Given the description of an element on the screen output the (x, y) to click on. 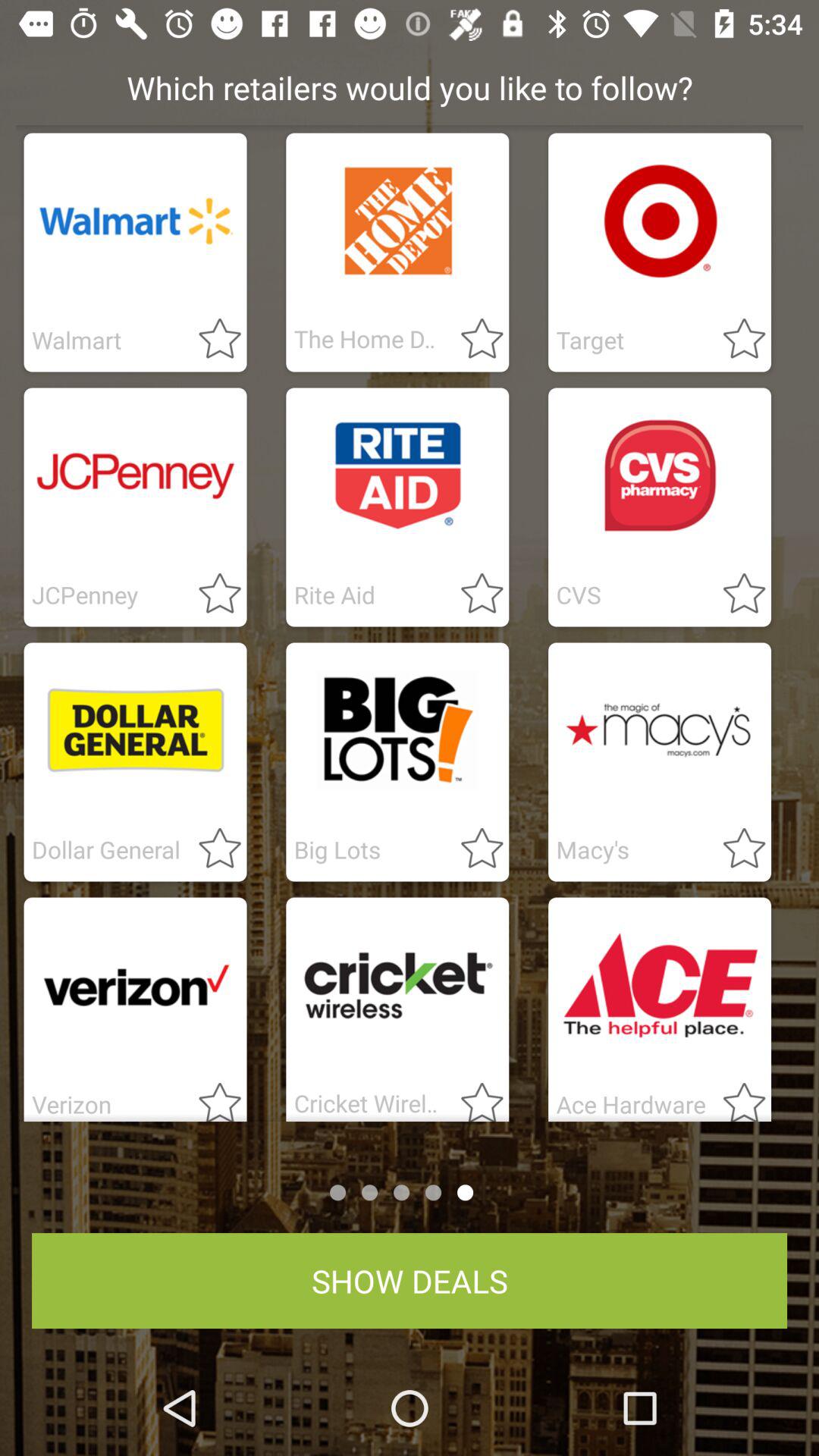
add to favorite (473, 849)
